Given the description of an element on the screen output the (x, y) to click on. 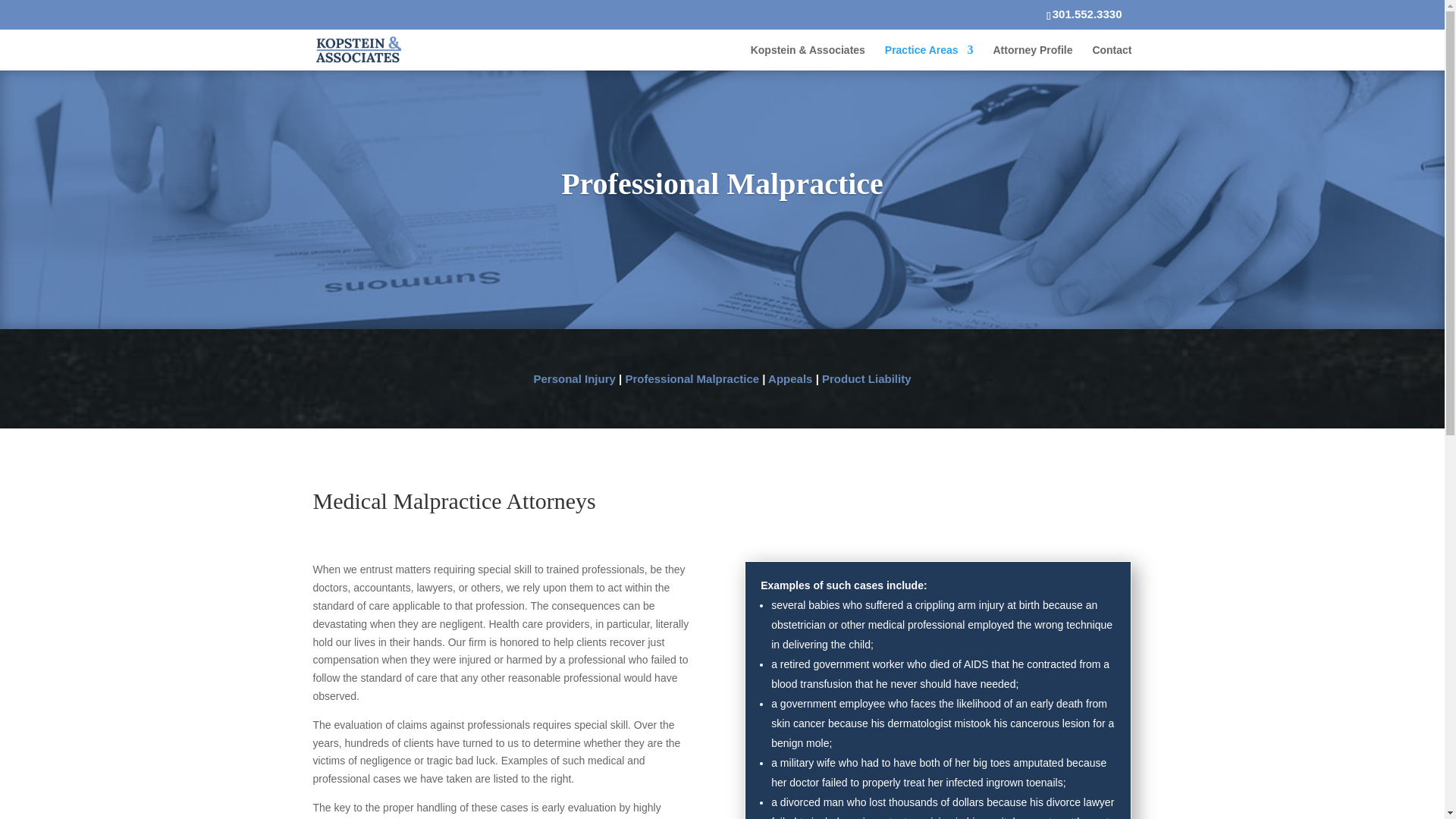
Professional Malpractice (691, 378)
Personal Injury (573, 378)
Practice Areas (929, 56)
Contact (1111, 56)
Appeals (790, 378)
Attorney Profile (1031, 56)
Product Liability (866, 378)
